Given the description of an element on the screen output the (x, y) to click on. 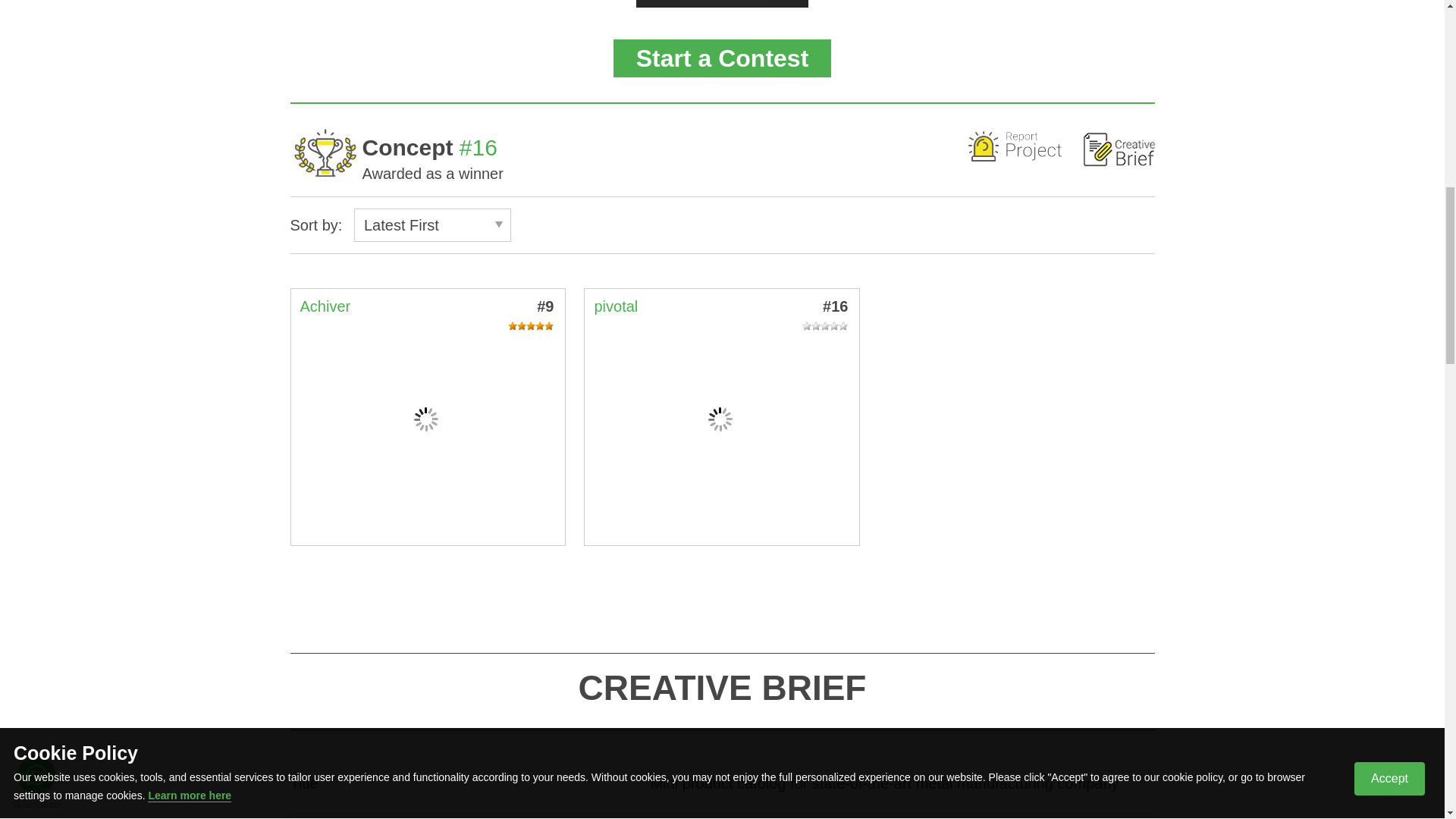
Start a Contest (721, 57)
Achiver (324, 306)
pivotal (615, 306)
